Given the description of an element on the screen output the (x, y) to click on. 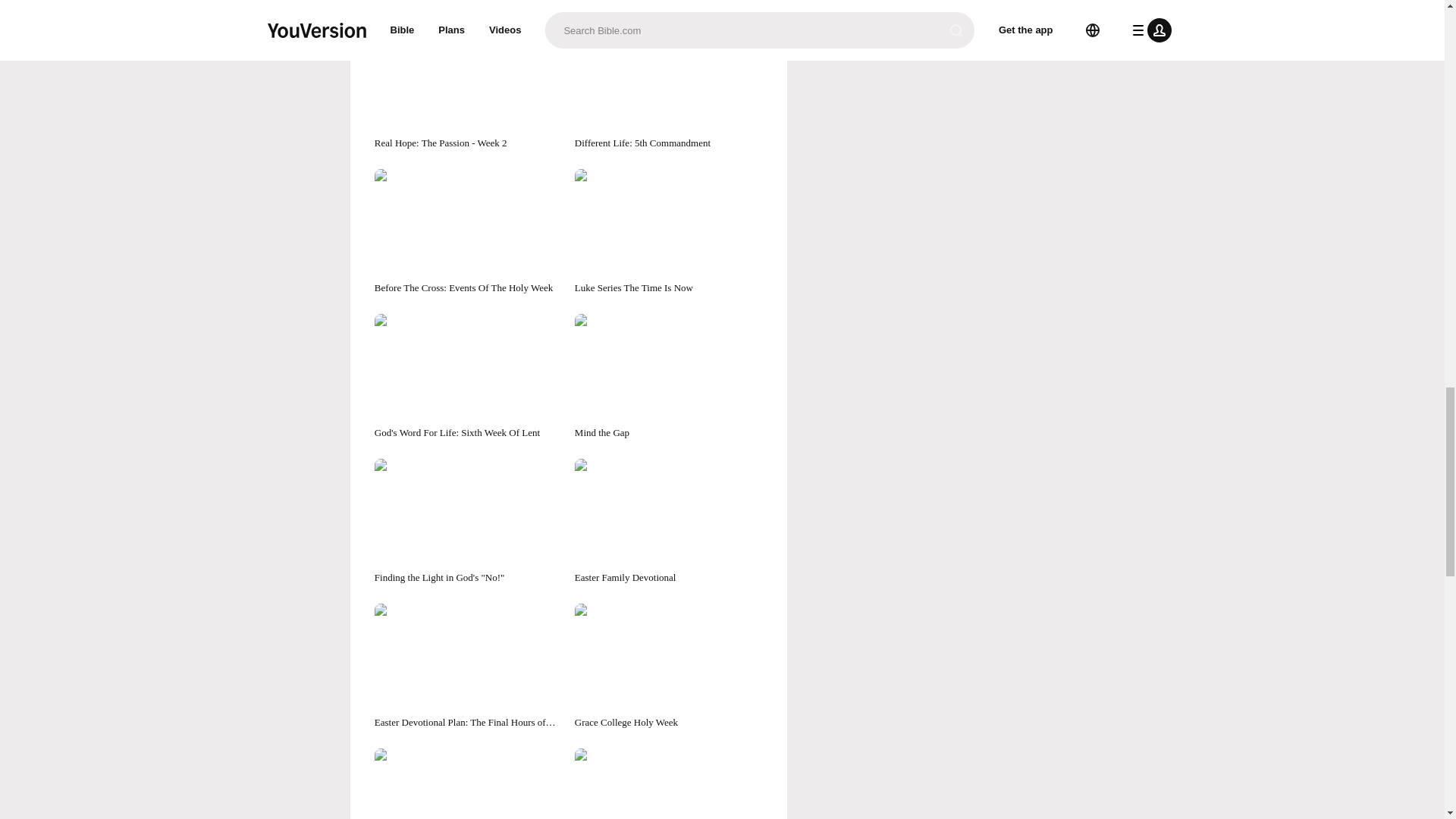
The Defining Moments of Christ's Passion (468, 2)
Easter Devotional Plan: The Final Hours of Jesus (468, 666)
Easter Family Devotional (668, 521)
Finding the Light in God's "No!" (468, 521)
Real Hope: The Passion - Week 2 (468, 87)
Luke Series The Time Is Now (668, 231)
Different Life: 5th Commandment (668, 87)
Mind the Gap (668, 376)
Before The Cross: Events Of The Holy Week (468, 231)
Things Jesus Never Said (668, 2)
God's Word For Life: Sixth Week Of Lent (468, 376)
